Given the description of an element on the screen output the (x, y) to click on. 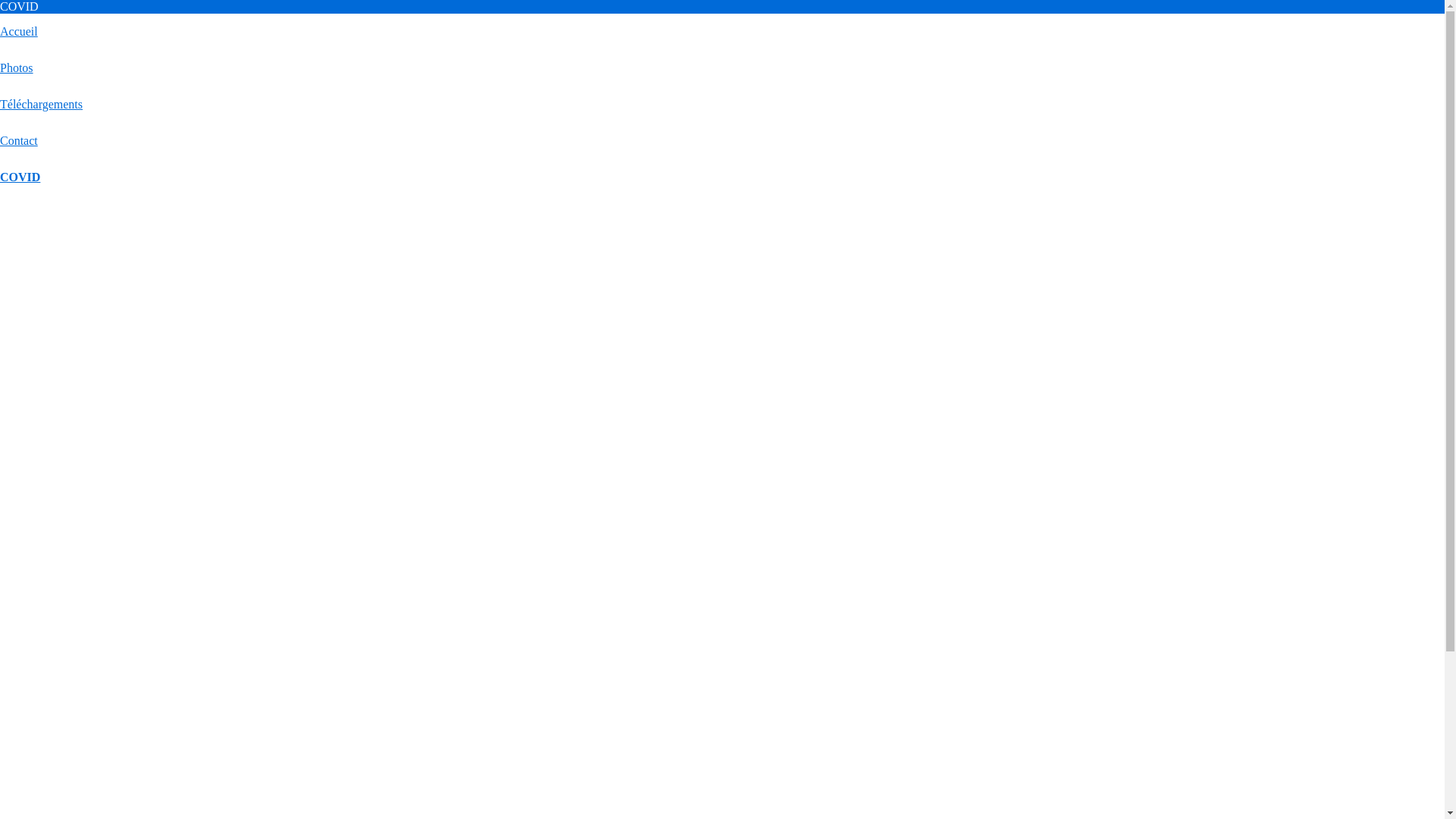
Accueil Element type: text (18, 31)
COVID Element type: text (20, 176)
Contact Element type: text (18, 140)
Photos Element type: text (16, 67)
